Given the description of an element on the screen output the (x, y) to click on. 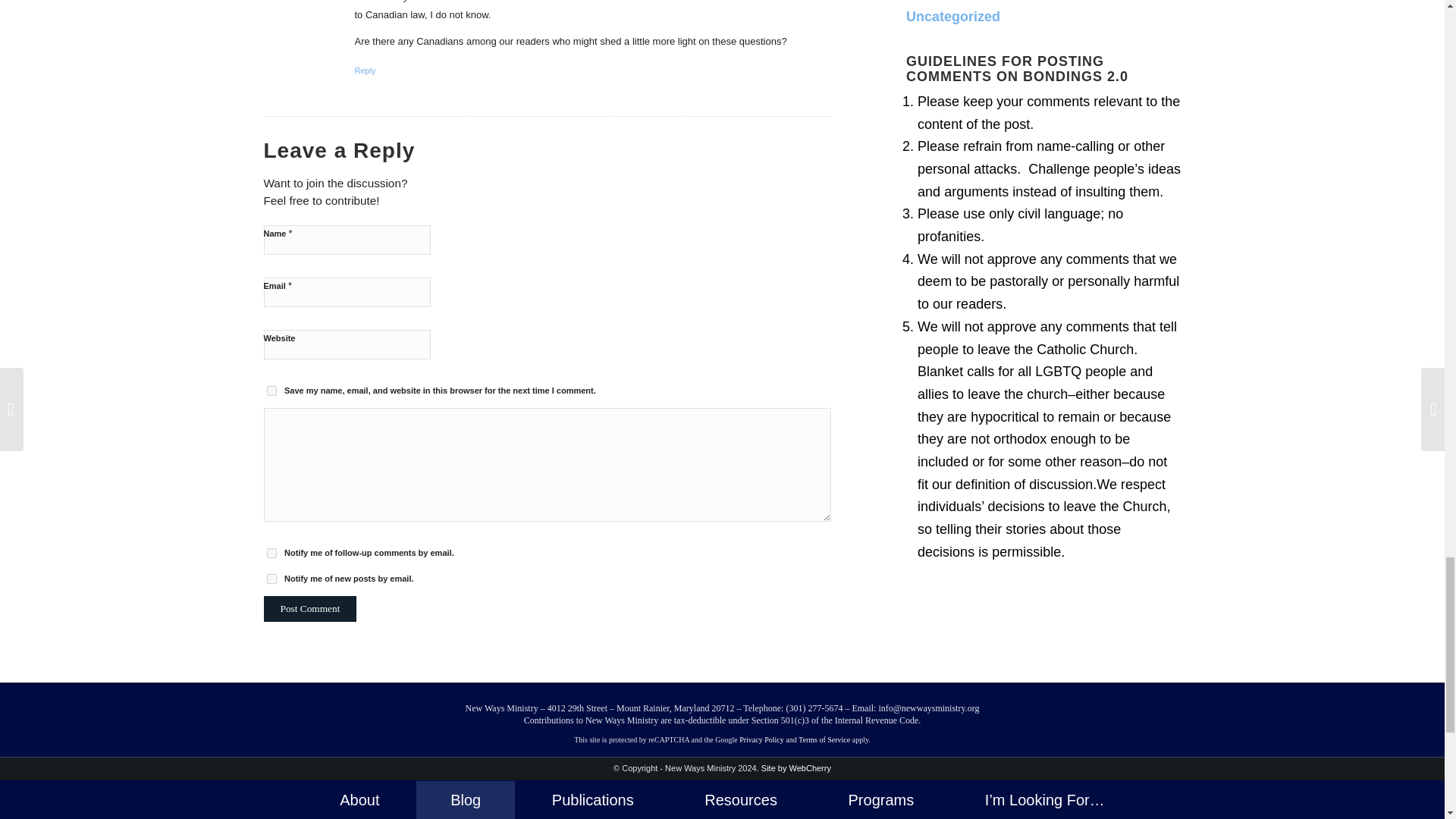
subscribe (271, 552)
subscribe (271, 578)
Post Comment (309, 608)
yes (271, 390)
